Given the description of an element on the screen output the (x, y) to click on. 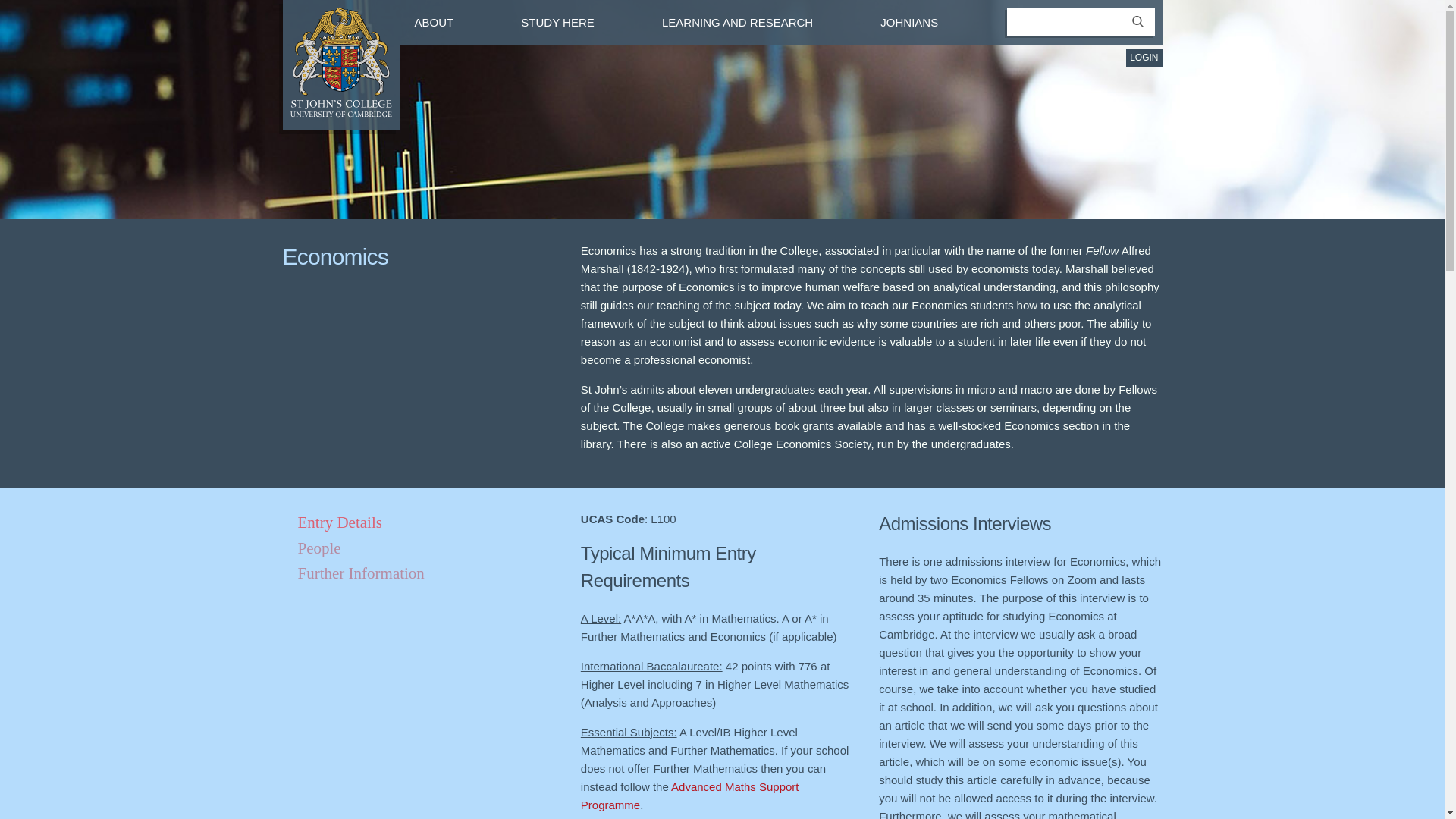
home (340, 113)
Search (1137, 30)
STUDY HERE (574, 22)
ABOUT (450, 22)
Study here (574, 22)
About St John's (450, 22)
LEARNING AND RESEARCH (753, 22)
JOHNIANS (925, 22)
Enter the terms you wish to search for. (1080, 21)
